Given the description of an element on the screen output the (x, y) to click on. 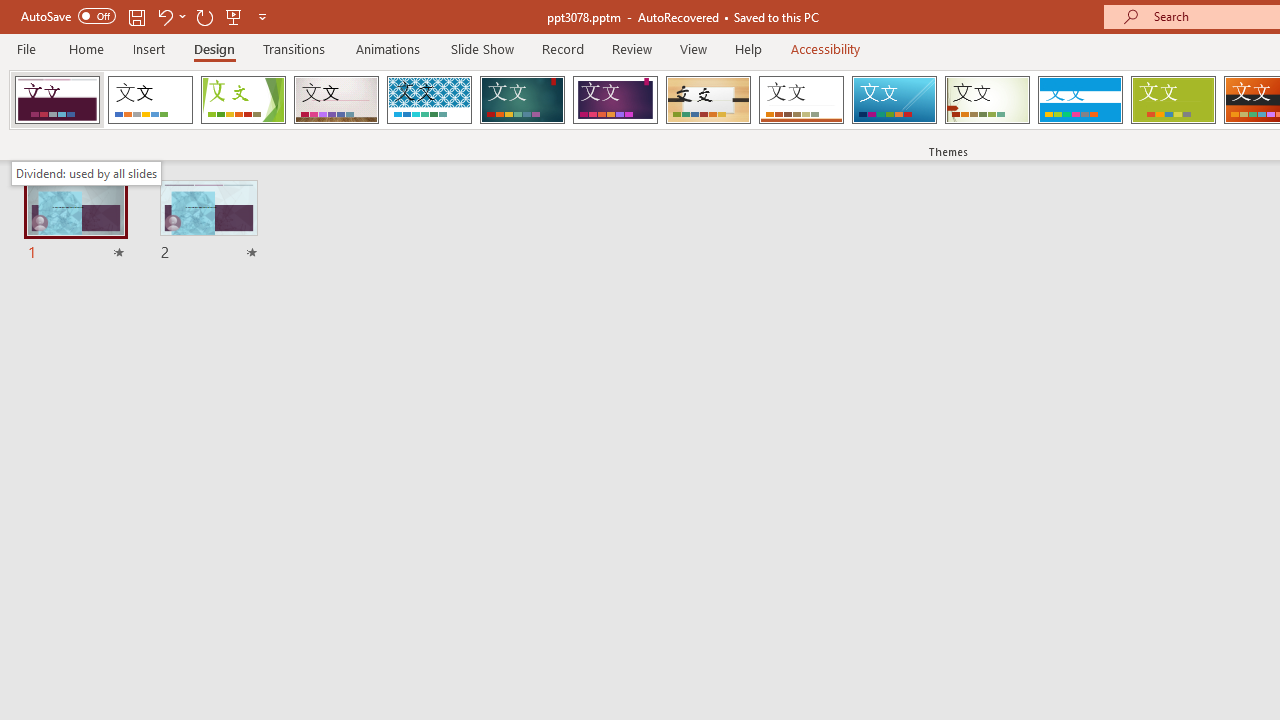
Wisp (987, 100)
Integral (429, 100)
Dividend: used by all slides (86, 173)
